Given the description of an element on the screen output the (x, y) to click on. 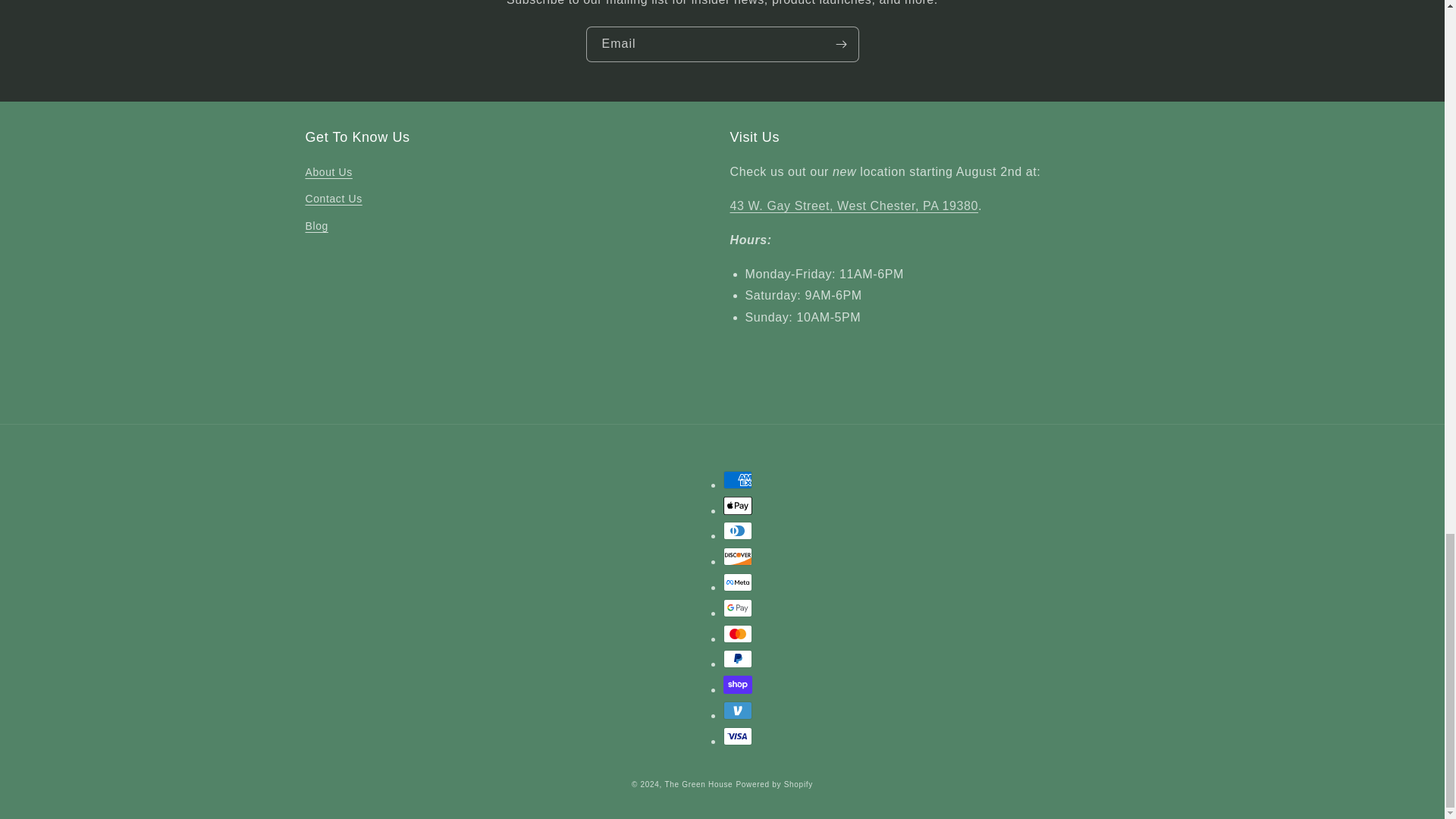
Visa (737, 736)
Google Pay (737, 607)
Shop Pay (737, 684)
Diners Club (737, 530)
Meta Pay (737, 582)
Apple Pay (737, 505)
Discover (737, 556)
American Express (737, 479)
Venmo (737, 710)
PayPal (737, 659)
Mastercard (737, 633)
